Given the description of an element on the screen output the (x, y) to click on. 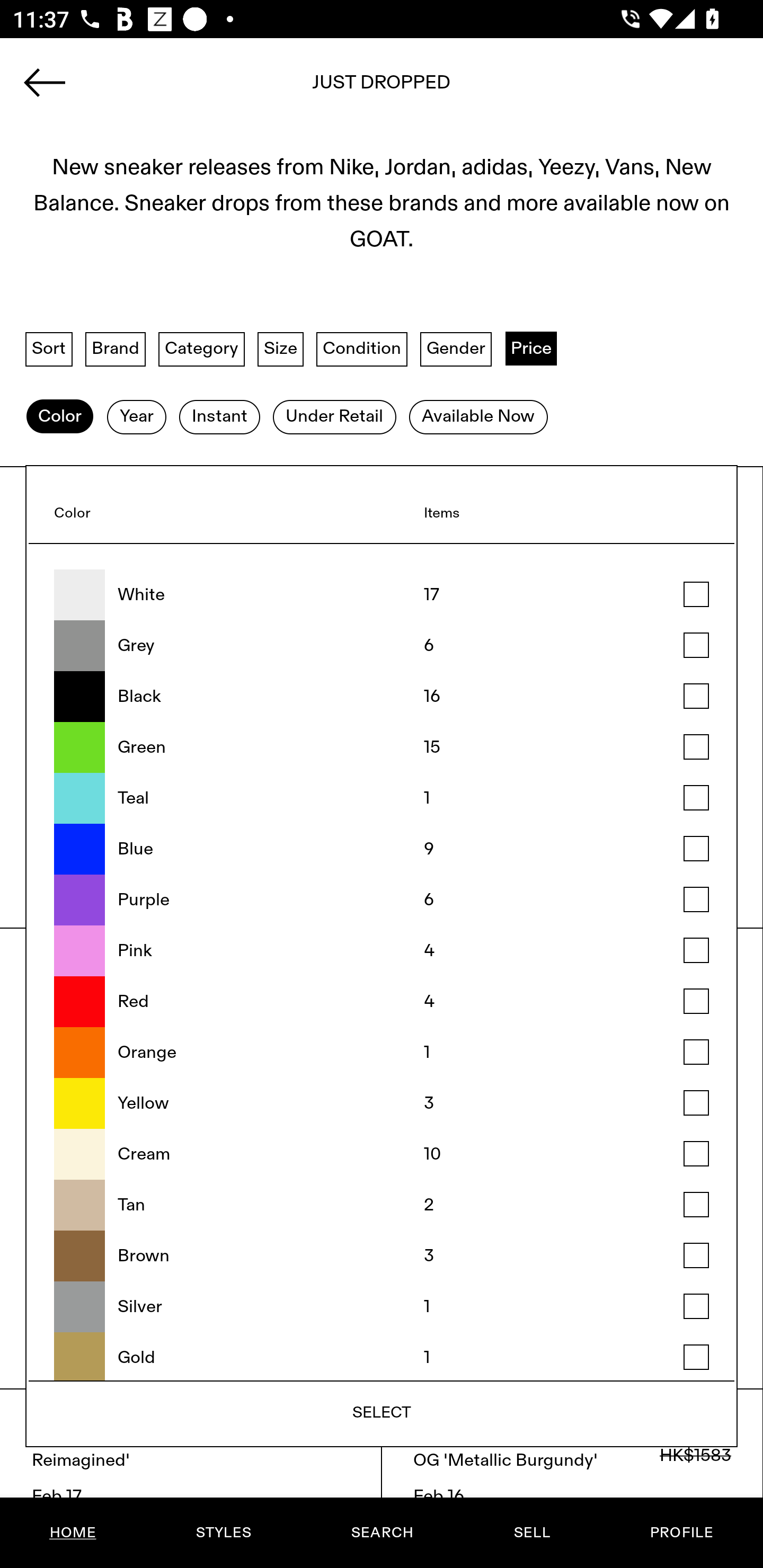
slippers (381, 88)
Sort (48, 348)
Brand (115, 348)
Category (201, 348)
Size (280, 348)
Condition (361, 348)
Gender (455, 348)
Price (530, 348)
Color (59, 416)
Year (136, 416)
Instant (219, 416)
Under Retail (334, 416)
Available Now (477, 416)
White 17 (381, 594)
Grey 6 (381, 645)
Black 16 (381, 696)
Green 15 (381, 747)
Teal 1 (381, 798)
Blue 9 (381, 848)
Purple 6 (381, 899)
Pink 4 (381, 950)
Red 4 (381, 1001)
Orange 1 (381, 1052)
Yellow 3 (381, 1103)
Cream 10 (381, 1153)
Tan 2 (381, 1204)
Brown 3 (381, 1255)
Silver 1 (381, 1306)
Gold 1 (381, 1355)
HOME (72, 1532)
STYLES (222, 1532)
SEARCH (381, 1532)
SELL (531, 1532)
PROFILE (681, 1532)
